Given the description of an element on the screen output the (x, y) to click on. 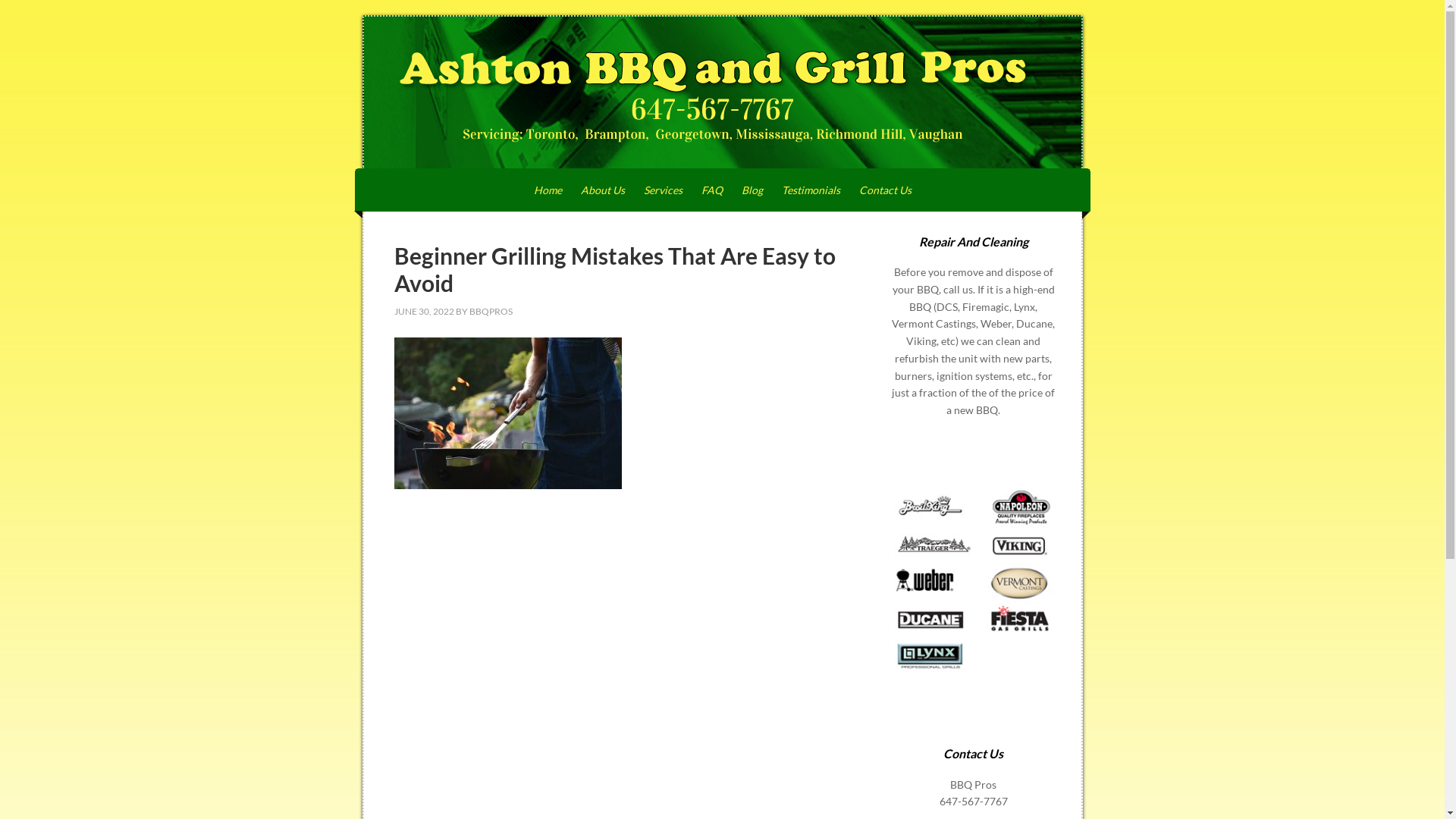
Blog Element type: text (751, 189)
About Us Element type: text (601, 189)
Services Element type: text (662, 189)
FAQ Element type: text (712, 189)
ASHTON BBQ AND GRILL PROS Element type: text (722, 92)
Testimonials Element type: text (810, 189)
BBQPROS Element type: text (489, 310)
Contact Us Element type: text (884, 189)
Home Element type: text (546, 189)
